Given the description of an element on the screen output the (x, y) to click on. 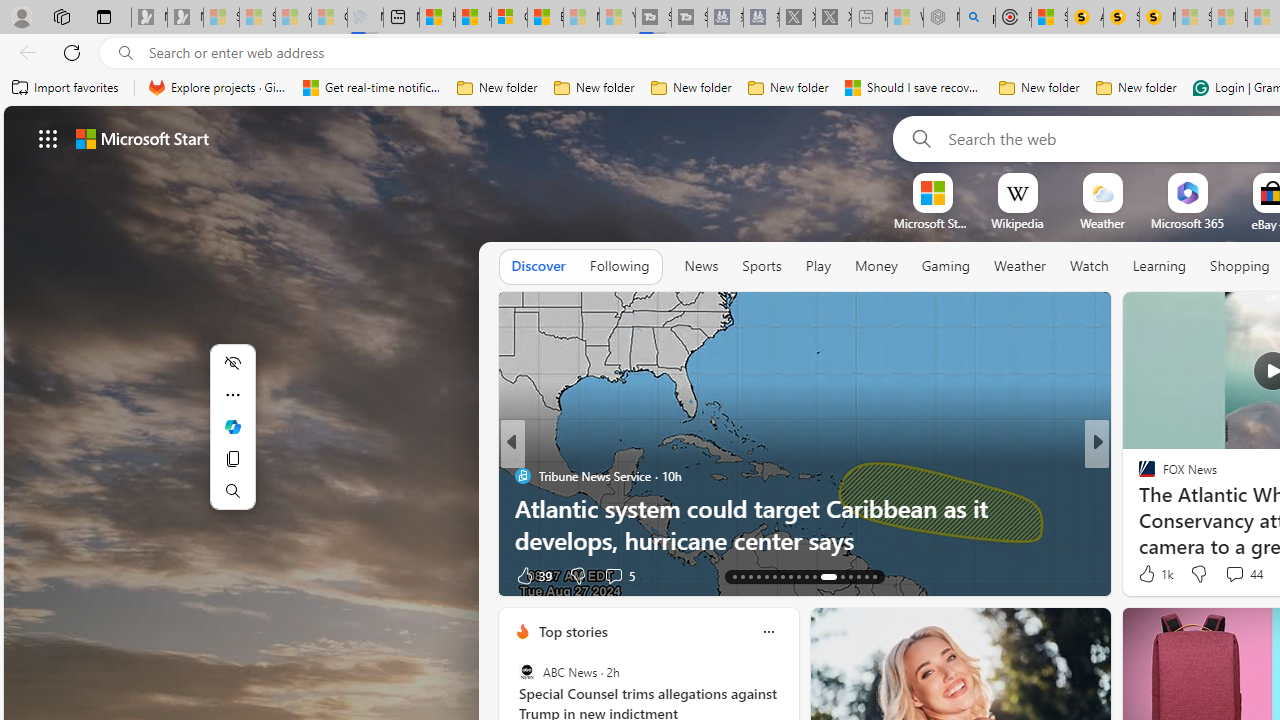
Search icon (125, 53)
View comments 1 Comment (1234, 575)
View comments 3 Comment (1229, 575)
Import favorites (65, 88)
AutomationID: tab-18 (774, 576)
Nordace.com (1165, 507)
Michelle Starr, Senior Journalist at ScienceAlert (1157, 17)
Shopping (1240, 265)
